Given the description of an element on the screen output the (x, y) to click on. 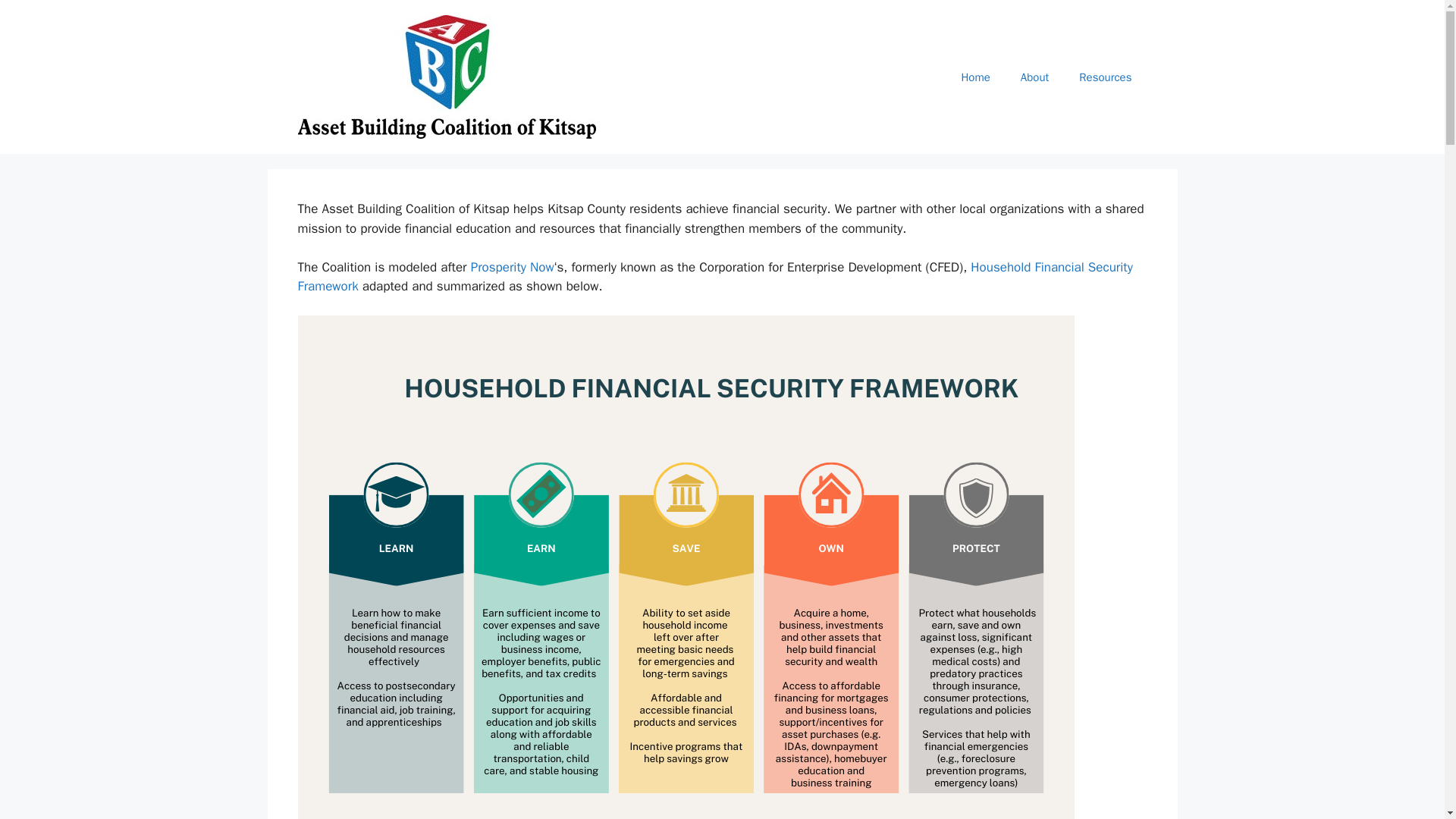
Household Financial Security Framework (714, 276)
Prosperity Now (512, 267)
Home (974, 76)
Resources (1105, 76)
About (1035, 76)
